Given the description of an element on the screen output the (x, y) to click on. 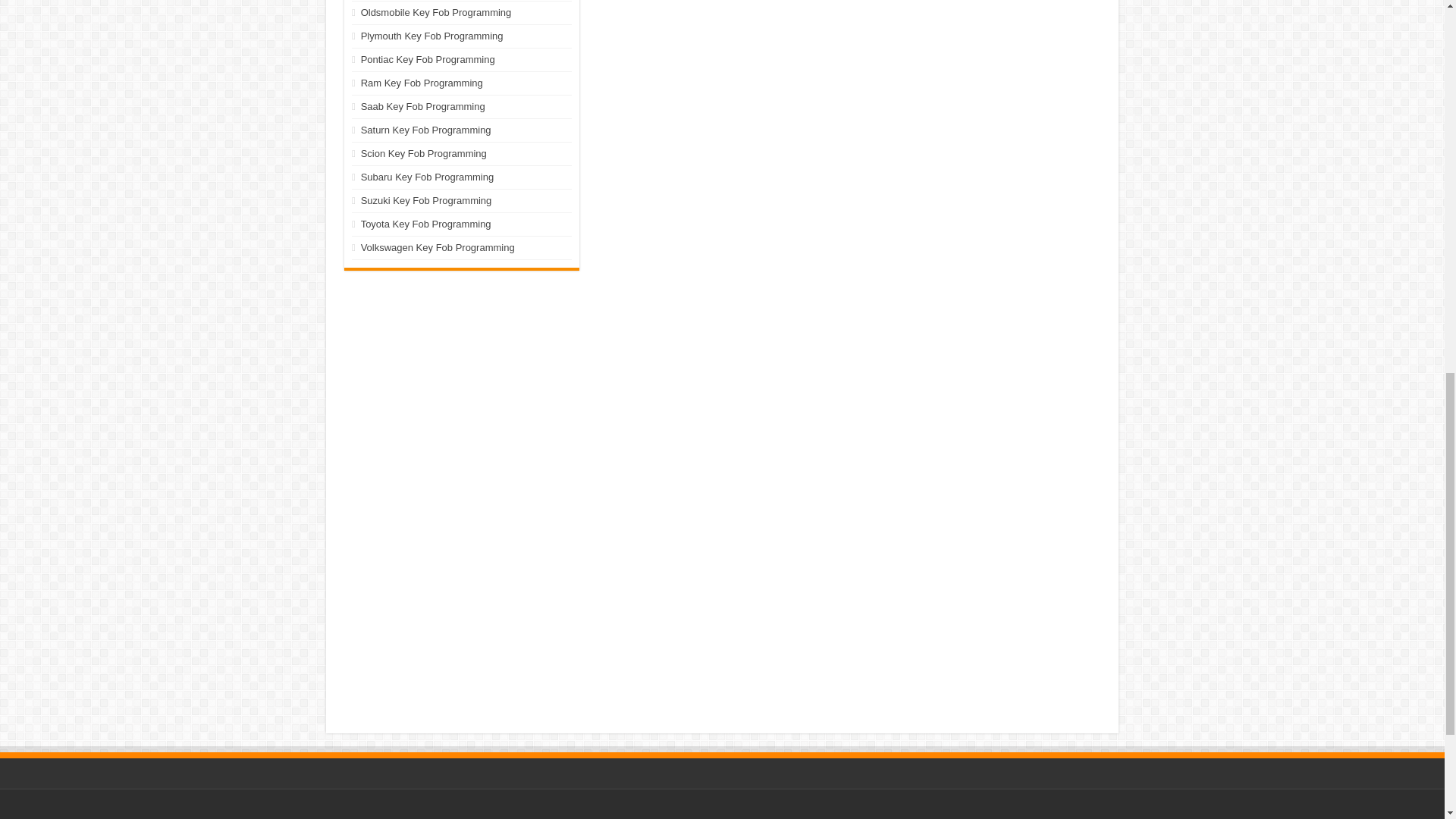
Pontiac Key Fob Programming (428, 59)
Subaru Key Fob Programming (428, 176)
Volkswagen Key Fob Programming (438, 247)
Saab Key Fob Programming (422, 106)
Scroll To Top (1421, 60)
Oldsmobile Key Fob Programming (436, 12)
Suzuki Key Fob Programming (426, 200)
Saturn Key Fob Programming (426, 129)
Scion Key Fob Programming (423, 153)
Toyota Key Fob Programming (426, 224)
